Given the description of an element on the screen output the (x, y) to click on. 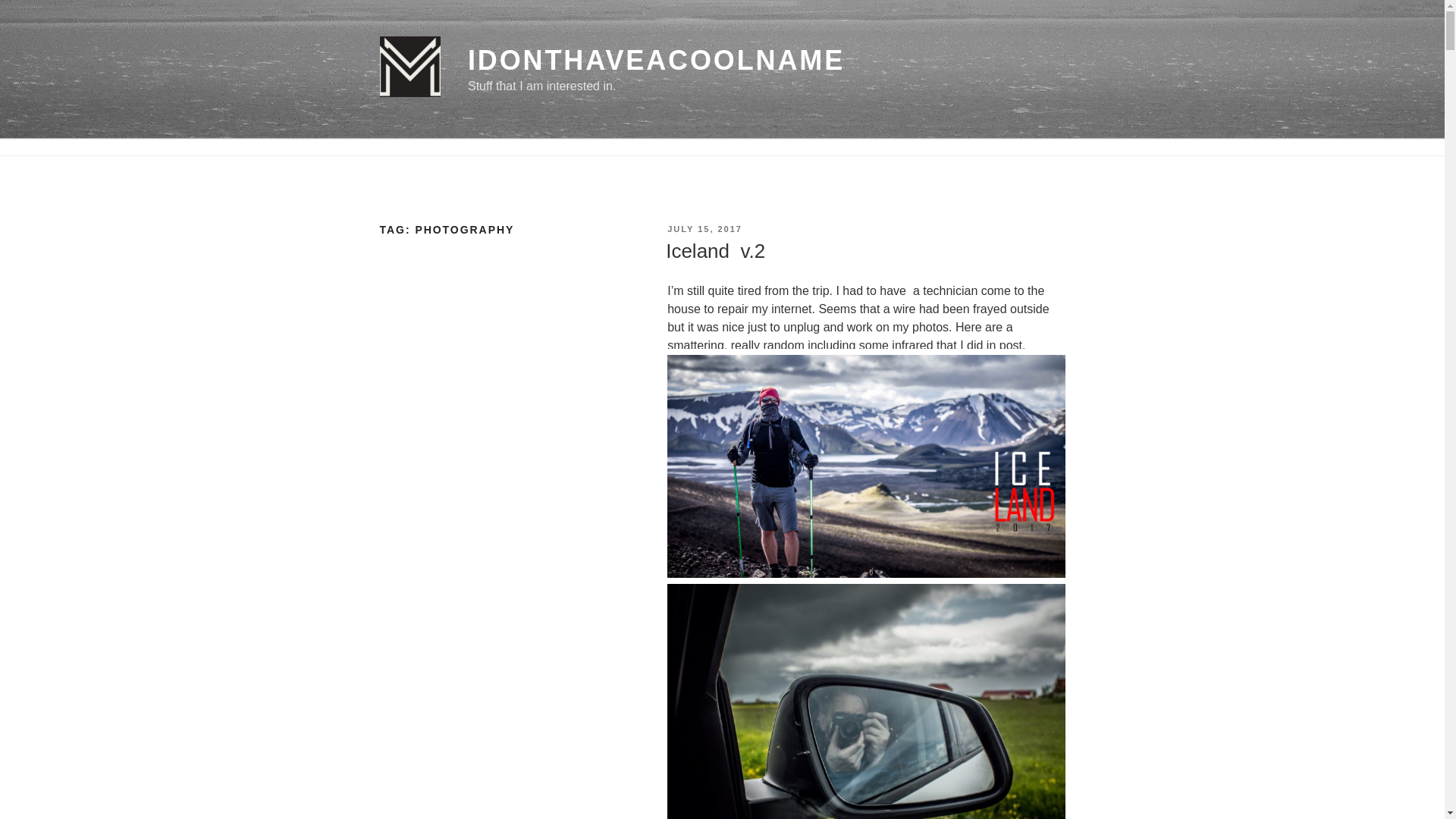
JULY 15, 2017 (704, 228)
Iceland  v.2 (715, 250)
IDONTHAVEACOOLNAME (655, 60)
